Given the description of an element on the screen output the (x, y) to click on. 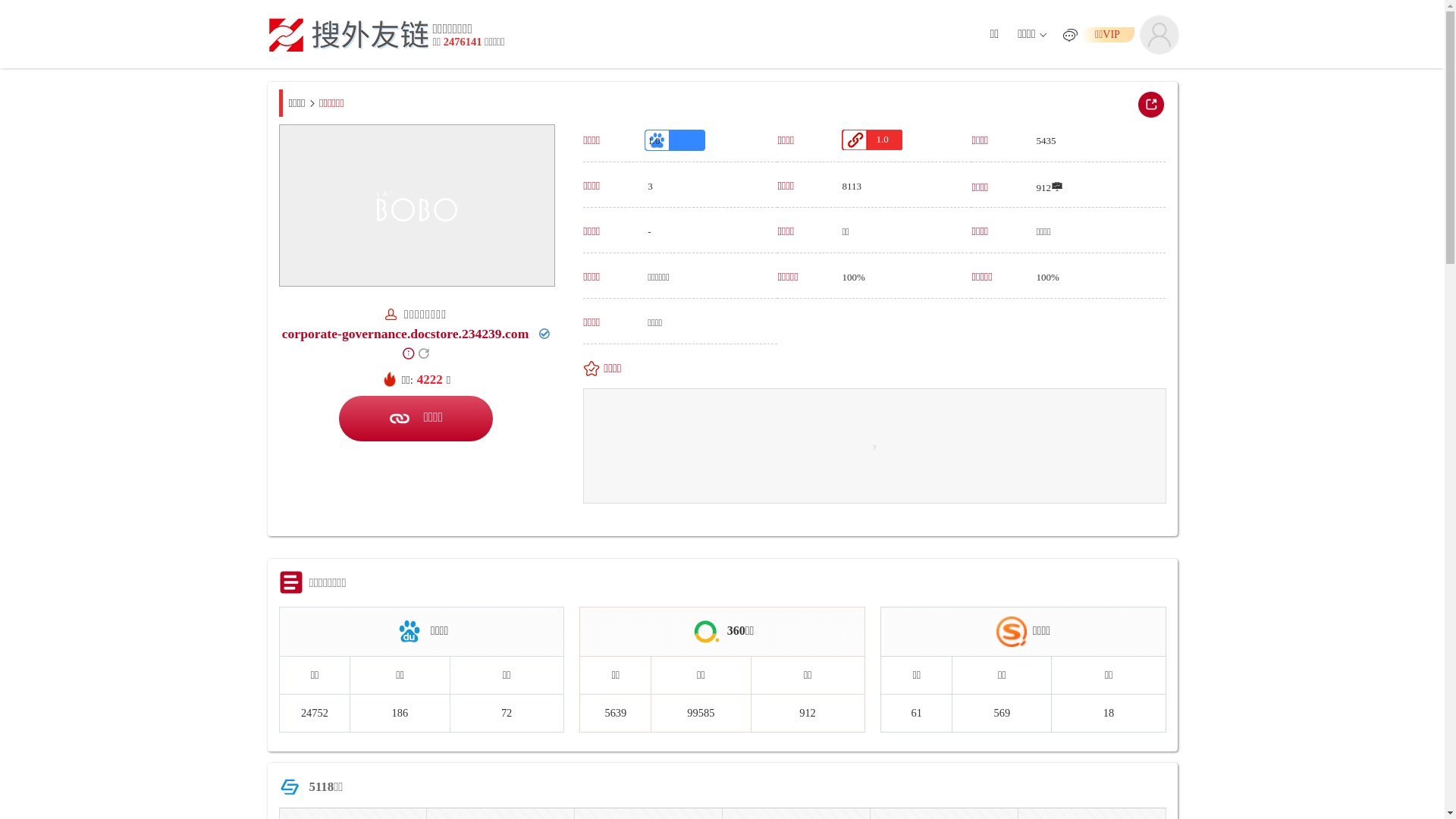
corporate-governance.docstore.234239.com Element type: text (405, 333)
